Given the description of an element on the screen output the (x, y) to click on. 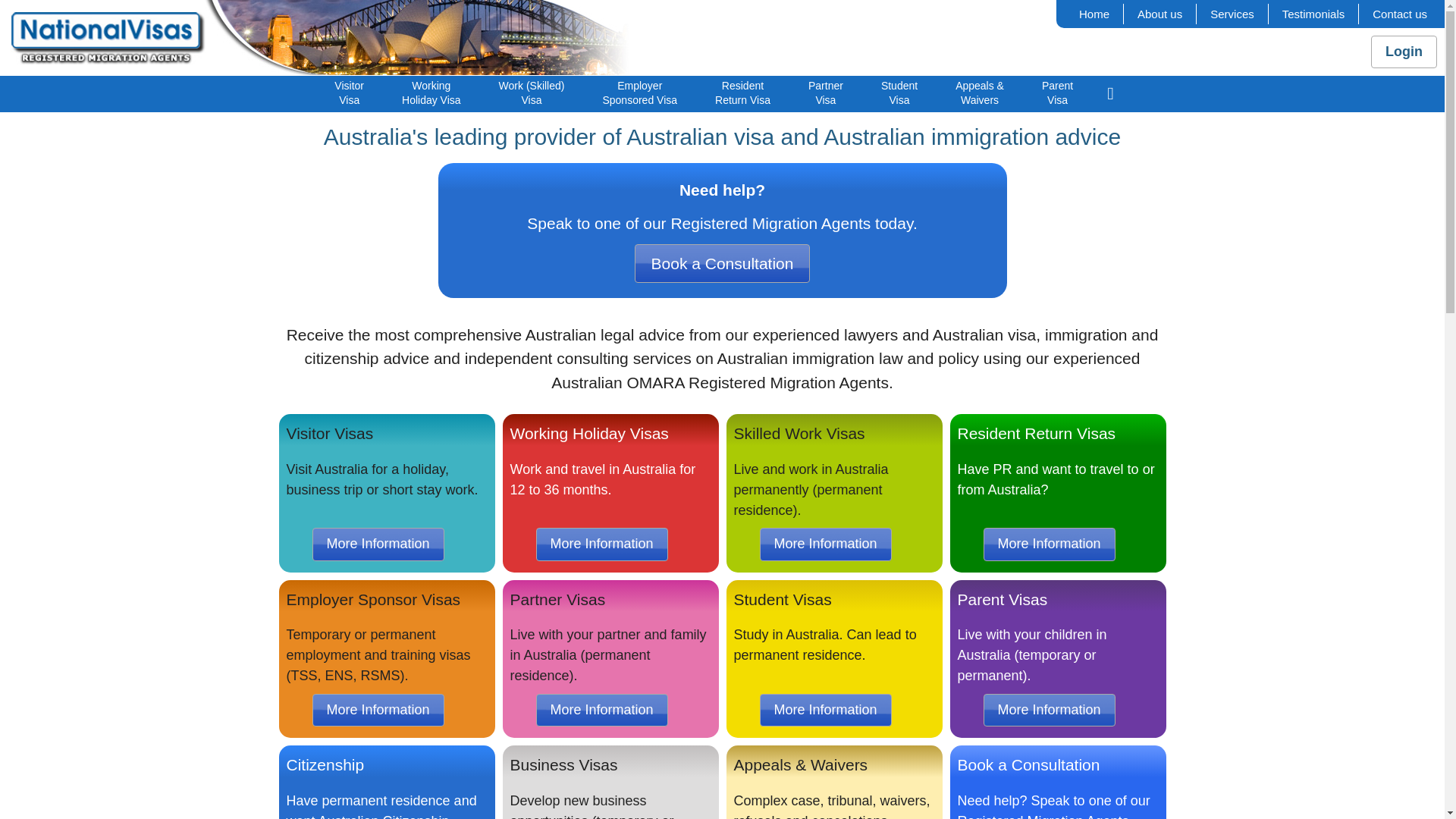
More Information Element type: text (601, 709)
Student
Visa Element type: text (899, 92)
Parent
Visa Element type: text (1057, 92)
Testimonials Element type: text (1313, 13)
Resident
Return Visa Element type: text (742, 92)
More Information Element type: text (601, 543)
Contact us Element type: text (1399, 13)
More Information Element type: text (1048, 543)
Book a Consultation Element type: text (722, 263)
Services Element type: text (1231, 13)
Login Element type: text (1404, 51)
More Information Element type: text (378, 543)
More Information Element type: text (825, 543)
Employer
Sponsored Visa Element type: text (639, 92)
More Information Element type: text (1048, 709)
Appeals &
Waivers Element type: text (979, 92)
Partner
Visa Element type: text (825, 92)
More Information Element type: text (378, 709)
Home Element type: text (1094, 13)
More Information Element type: text (825, 709)
About us Element type: text (1159, 13)
Visitor
Visa Element type: text (349, 92)
Work (Skilled)
Visa Element type: text (531, 92)
Working
Holiday Visa Element type: text (431, 92)
